Given the description of an element on the screen output the (x, y) to click on. 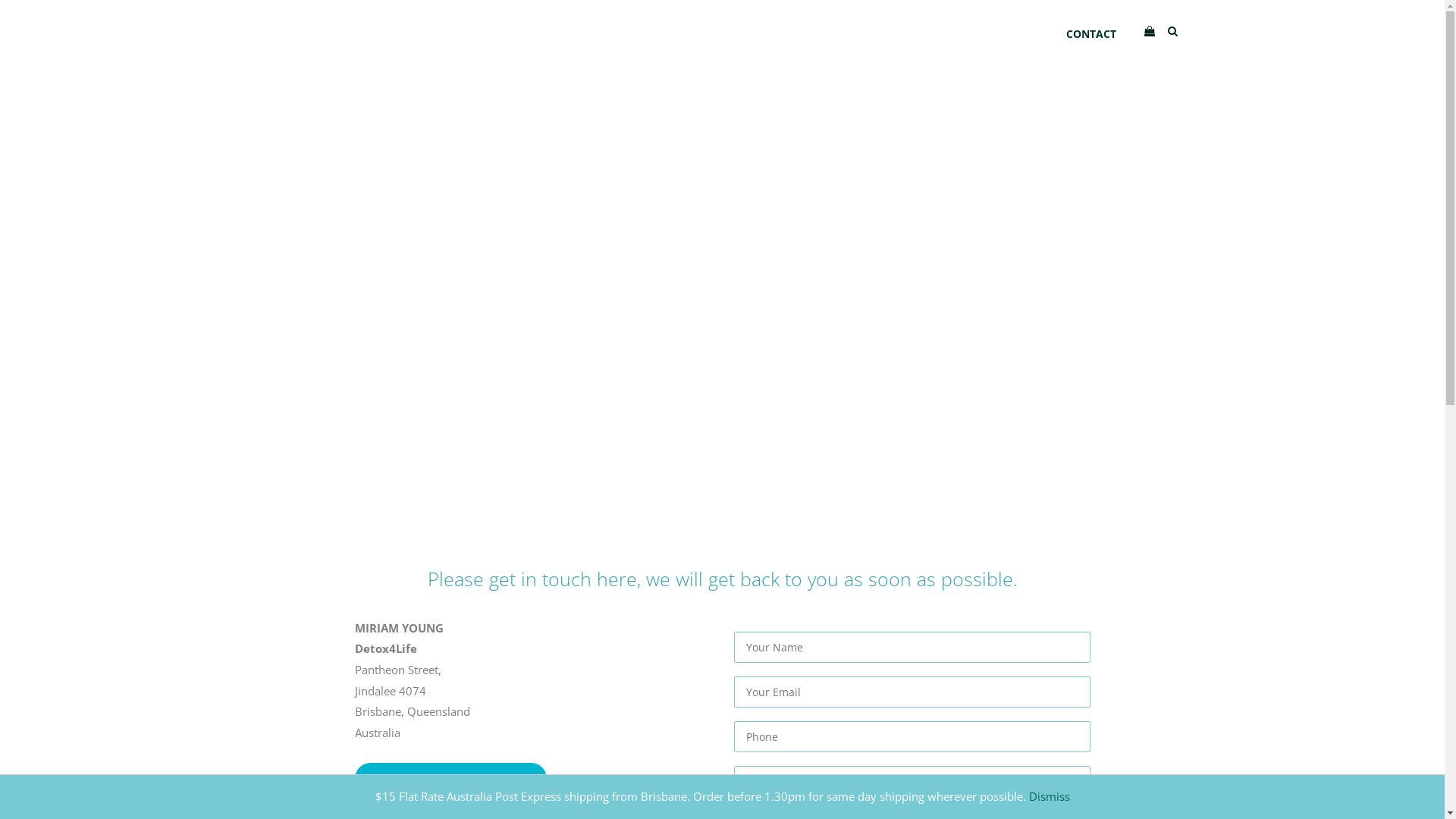
HEALTHY SEX Element type: text (955, 34)
DETOX PROGRAMS Element type: text (734, 34)
HOME Element type: text (594, 34)
BOOK A CONSULTATION NOW Element type: text (450, 777)
CONTACT Element type: text (1090, 34)
CONSULTATIONS Element type: text (852, 34)
BLOG Element type: text (1028, 34)
SHOP Element type: text (649, 34)
Dismiss Element type: text (1048, 796)
